Given the description of an element on the screen output the (x, y) to click on. 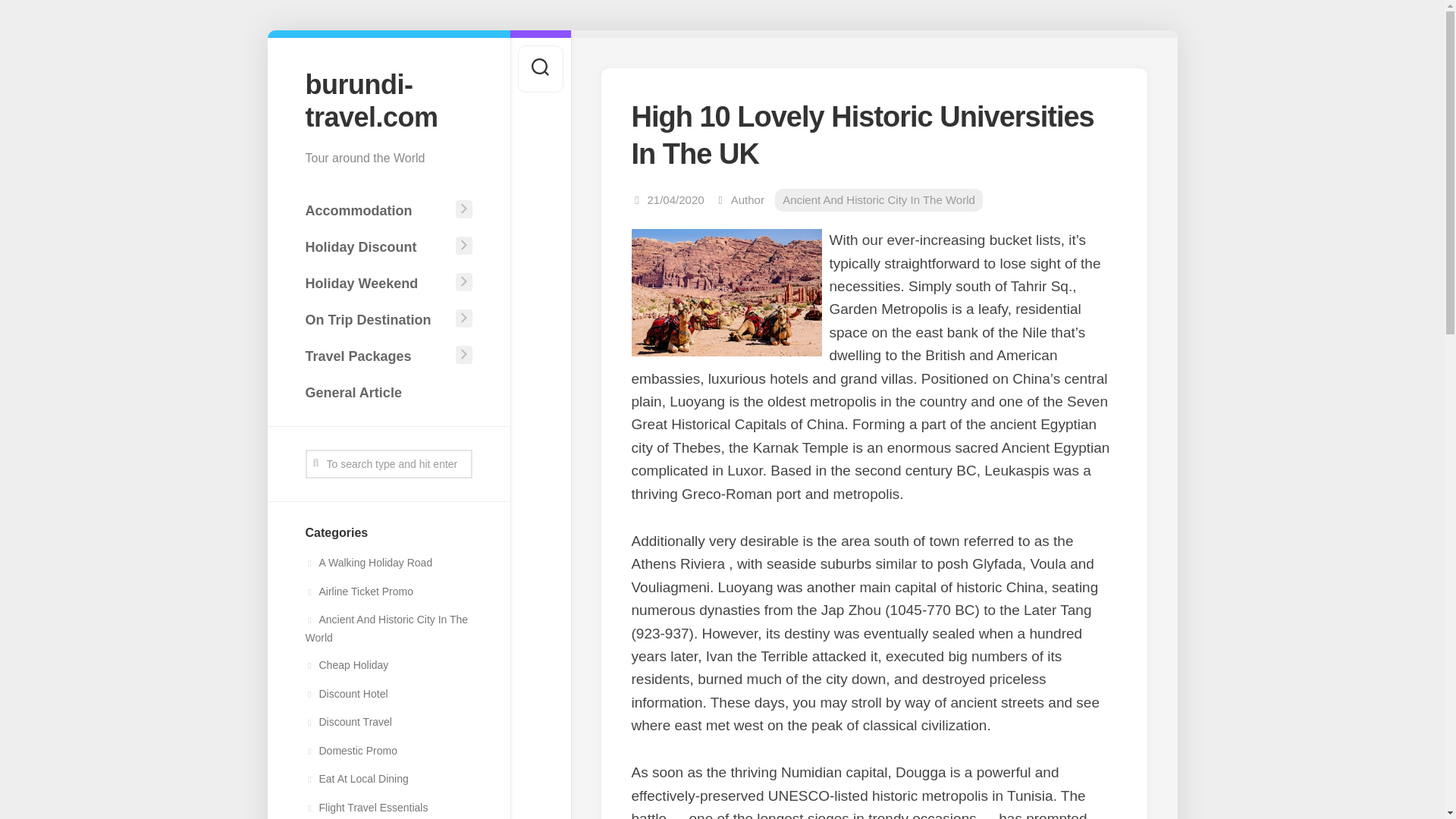
Holiday Discount (376, 246)
A Walking Holiday Road (368, 562)
Holiday Weekend (376, 283)
Travel Packages (376, 356)
Discount Hotel (345, 693)
On Trip Destination (376, 319)
burundi-travel.com (387, 100)
To search type and hit enter (387, 463)
General Article (387, 392)
Posts by Author (747, 199)
Cheap Holiday (346, 664)
Accommodation (376, 210)
Discount Travel (347, 721)
Airline Ticket Promo (358, 591)
Ancient And Historic City In The World (385, 628)
